Given the description of an element on the screen output the (x, y) to click on. 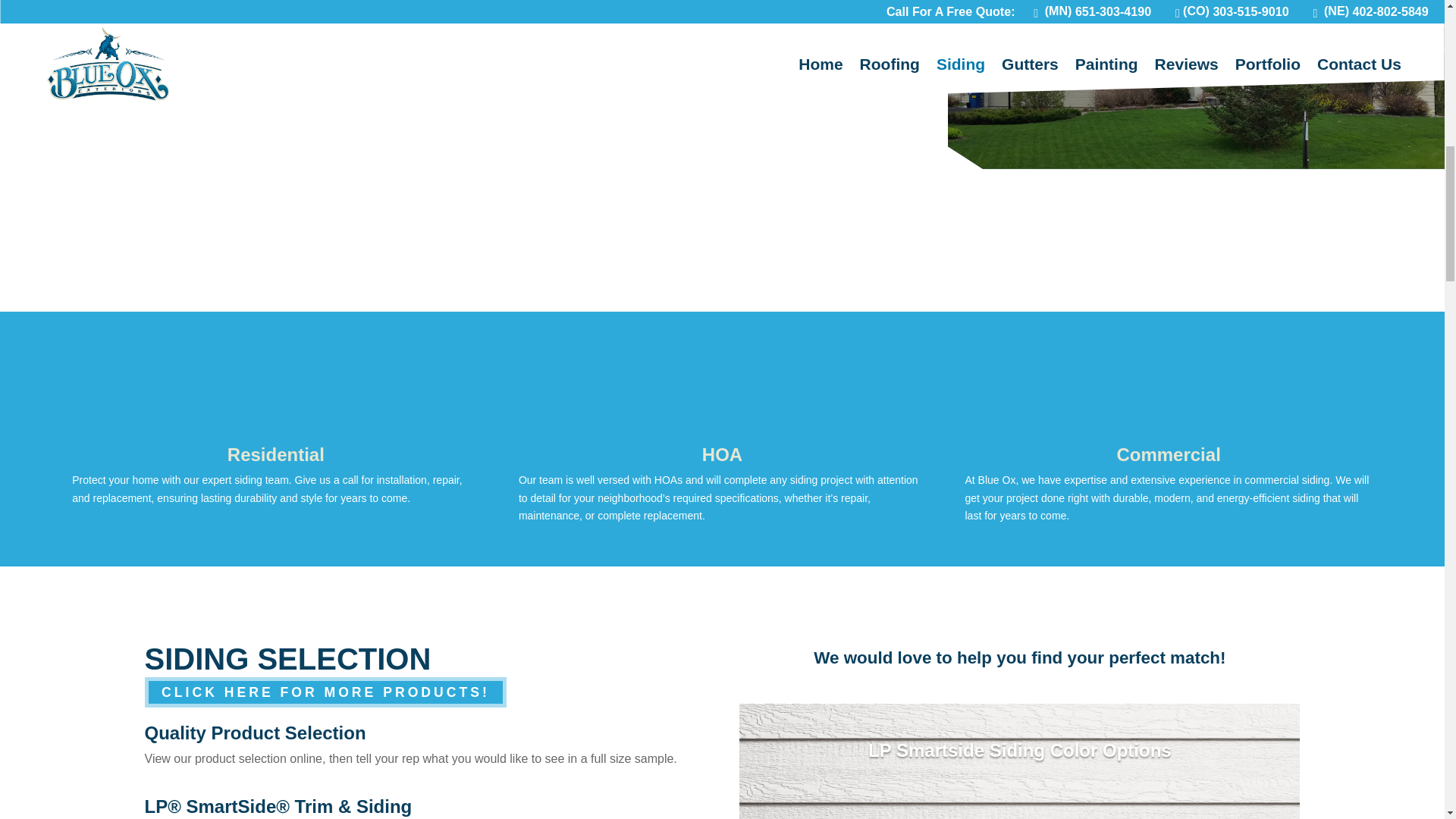
Snowscape White (1019, 761)
CLICK HERE FOR MORE PRODUCTS! (325, 692)
